Given the description of an element on the screen output the (x, y) to click on. 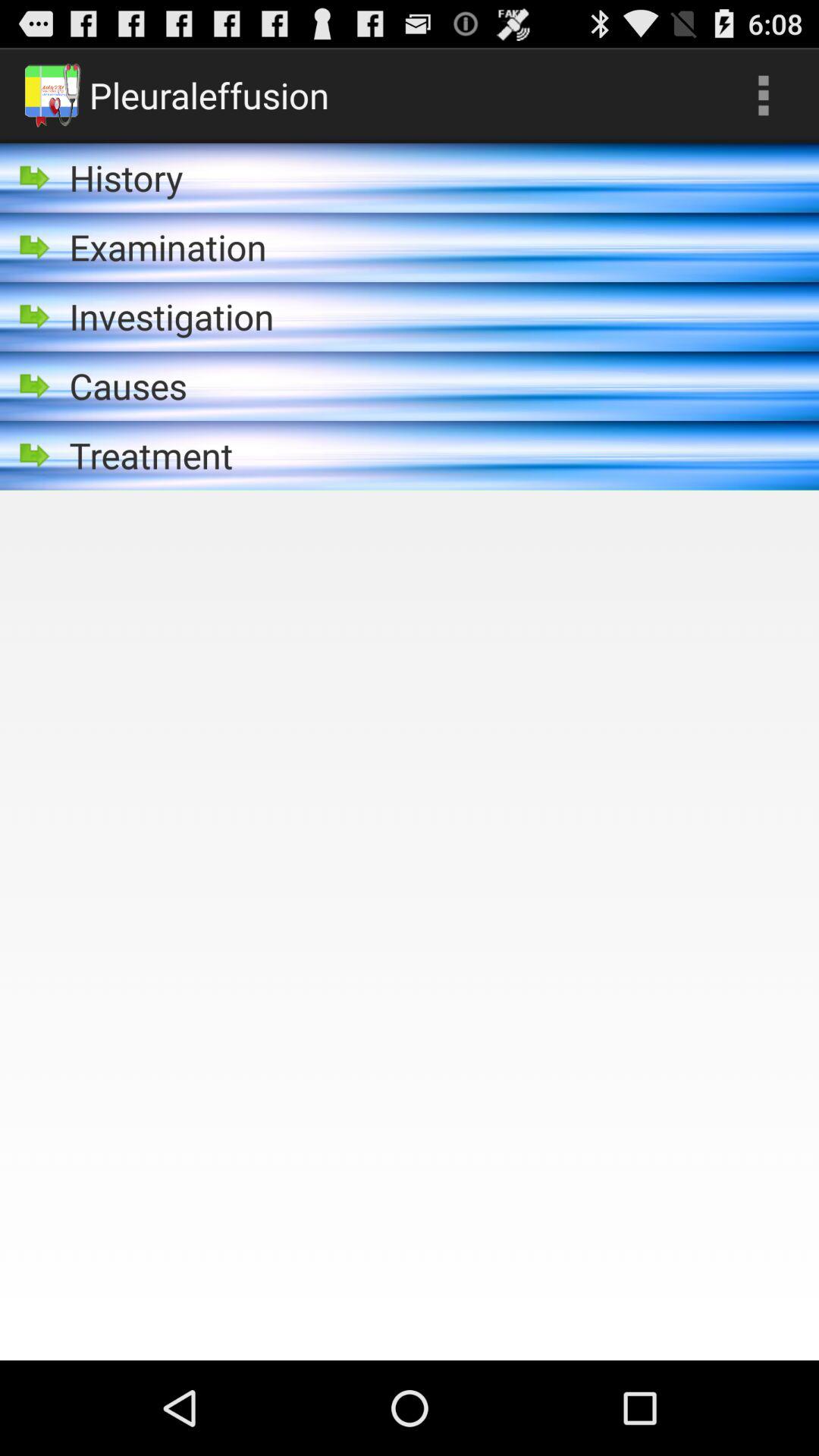
goto the icon beside of causes (36, 385)
click on icon left to investigation (36, 317)
click on icon left side of examination (36, 247)
